Given the description of an element on the screen output the (x, y) to click on. 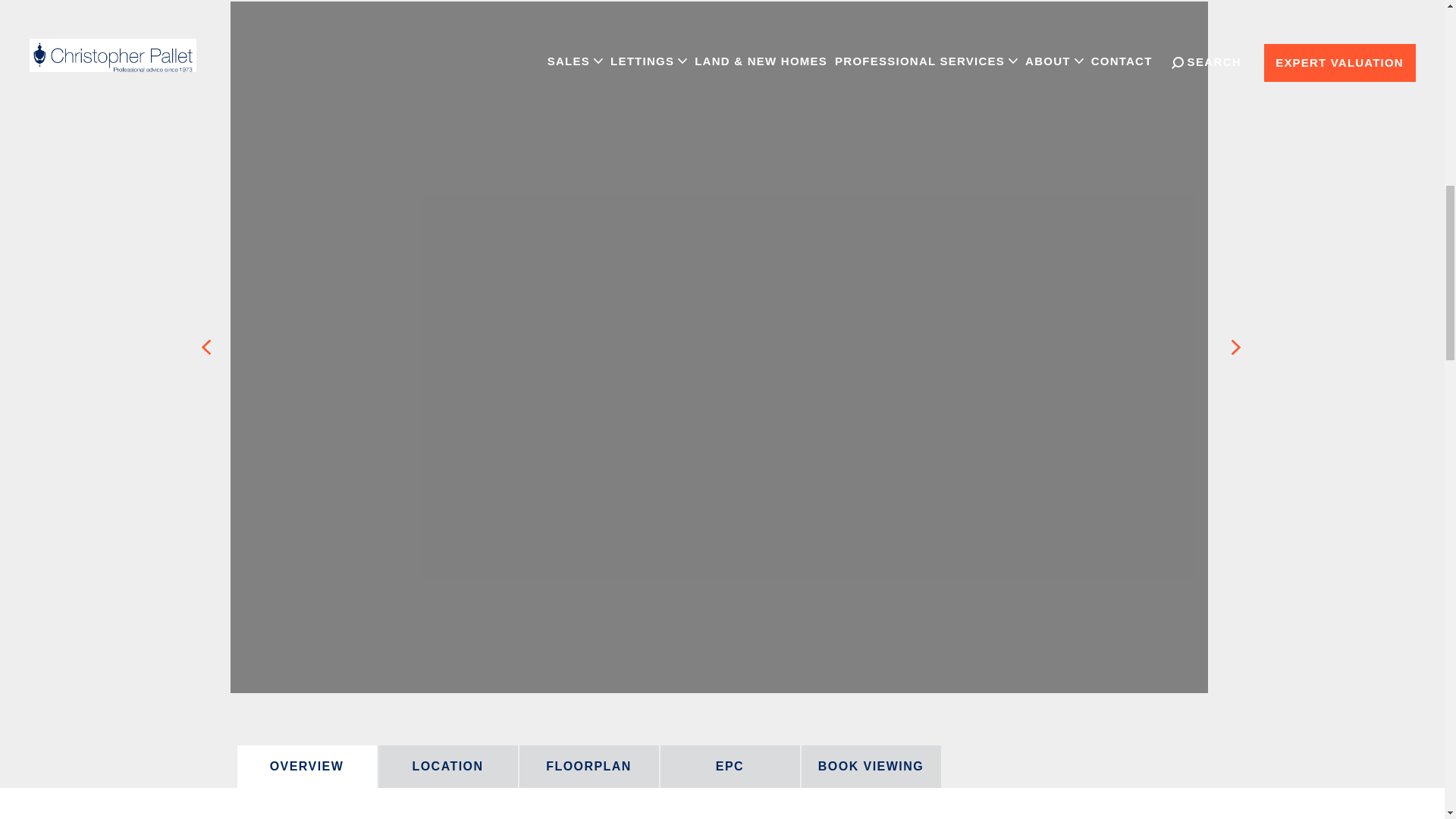
LOCATION (446, 766)
FLOORPLAN (588, 766)
OVERVIEW (305, 766)
EPC (729, 766)
BOOK VIEWING (870, 766)
